Given the description of an element on the screen output the (x, y) to click on. 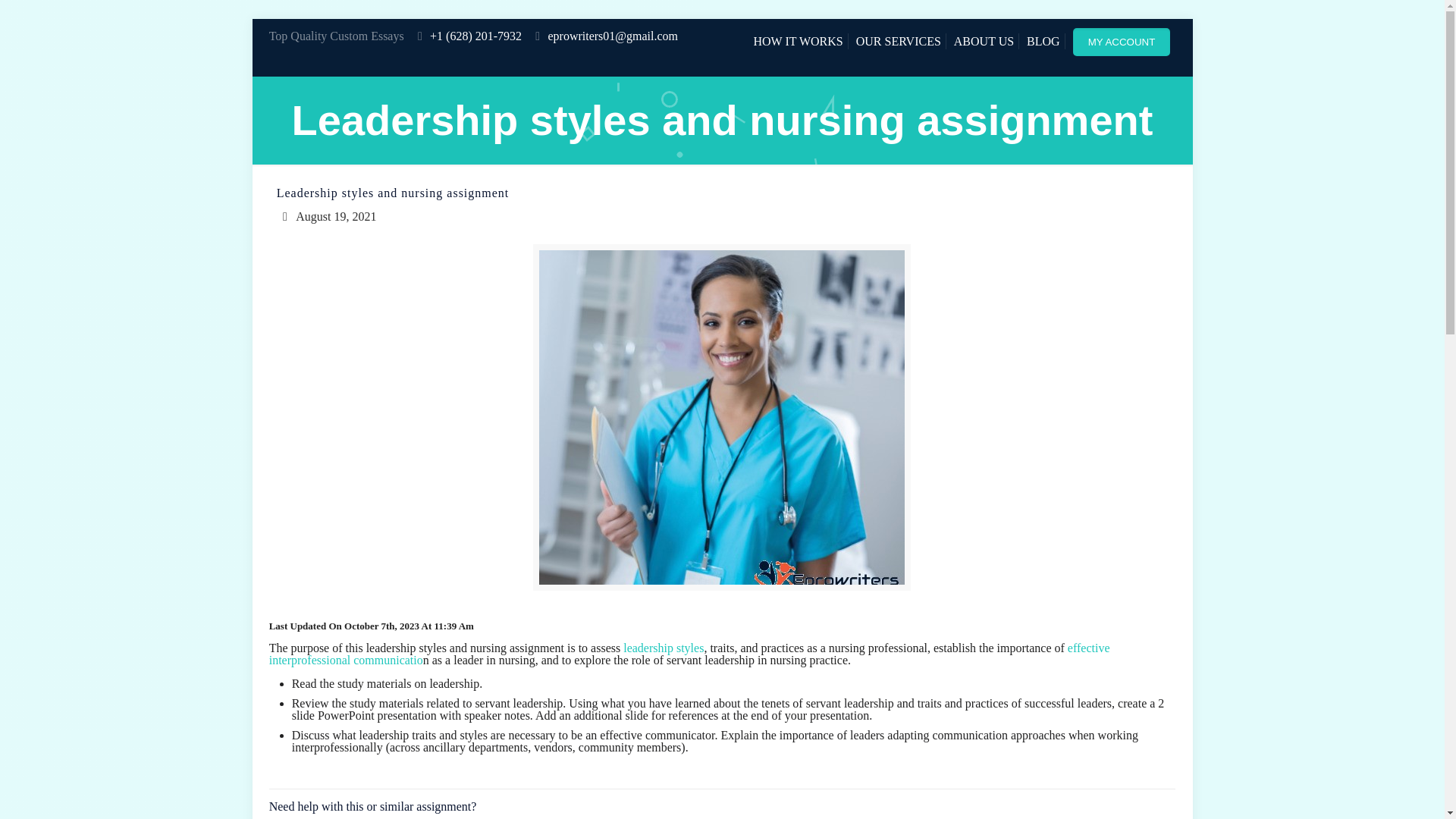
MY ACCOUNT (1121, 41)
MY ACCOUNT (1124, 41)
OUR SERVICES (898, 41)
HOW IT WORKS (798, 41)
BLOG (1042, 41)
ABOUT US (983, 41)
effective interprofessional communicatio (689, 653)
leadership styles (663, 647)
